Given the description of an element on the screen output the (x, y) to click on. 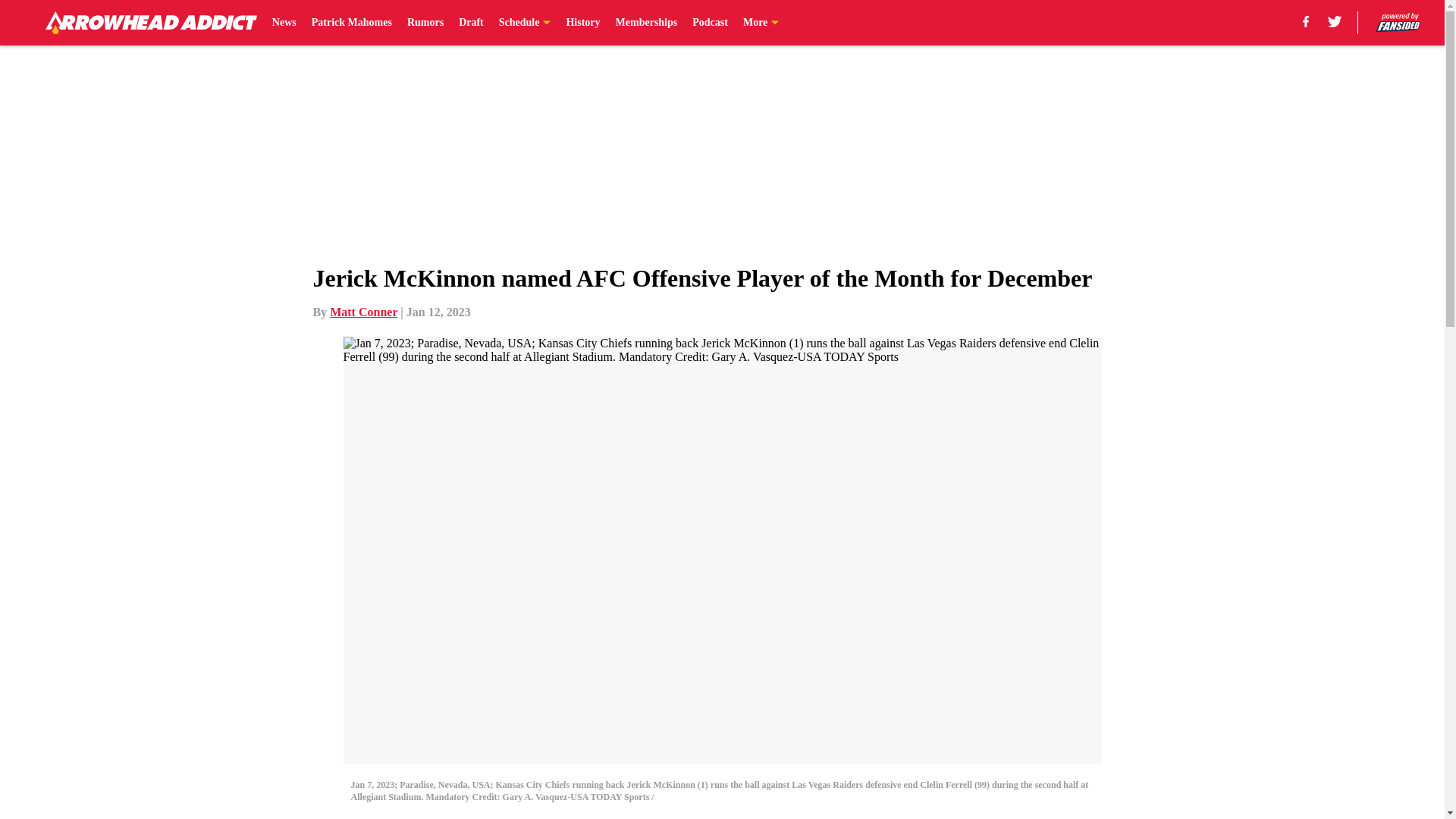
Podcast (710, 22)
Rumors (425, 22)
Matt Conner (363, 311)
News (284, 22)
Draft (470, 22)
Memberships (646, 22)
Patrick Mahomes (351, 22)
History (582, 22)
